Given the description of an element on the screen output the (x, y) to click on. 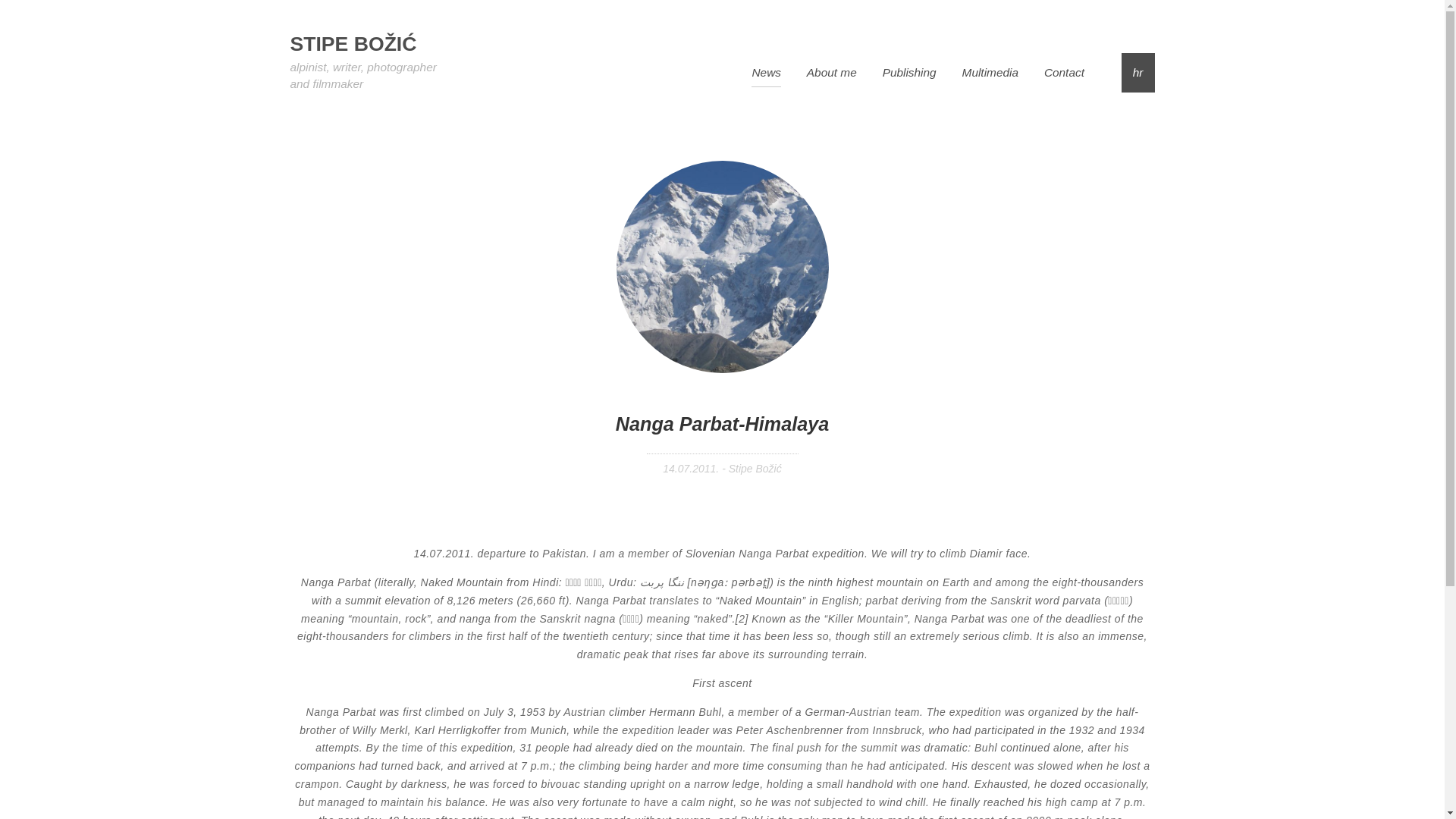
Contact (1063, 76)
About me (831, 76)
hr (1137, 76)
Multimedia (989, 76)
Publishing (909, 76)
News (765, 76)
